Given the description of an element on the screen output the (x, y) to click on. 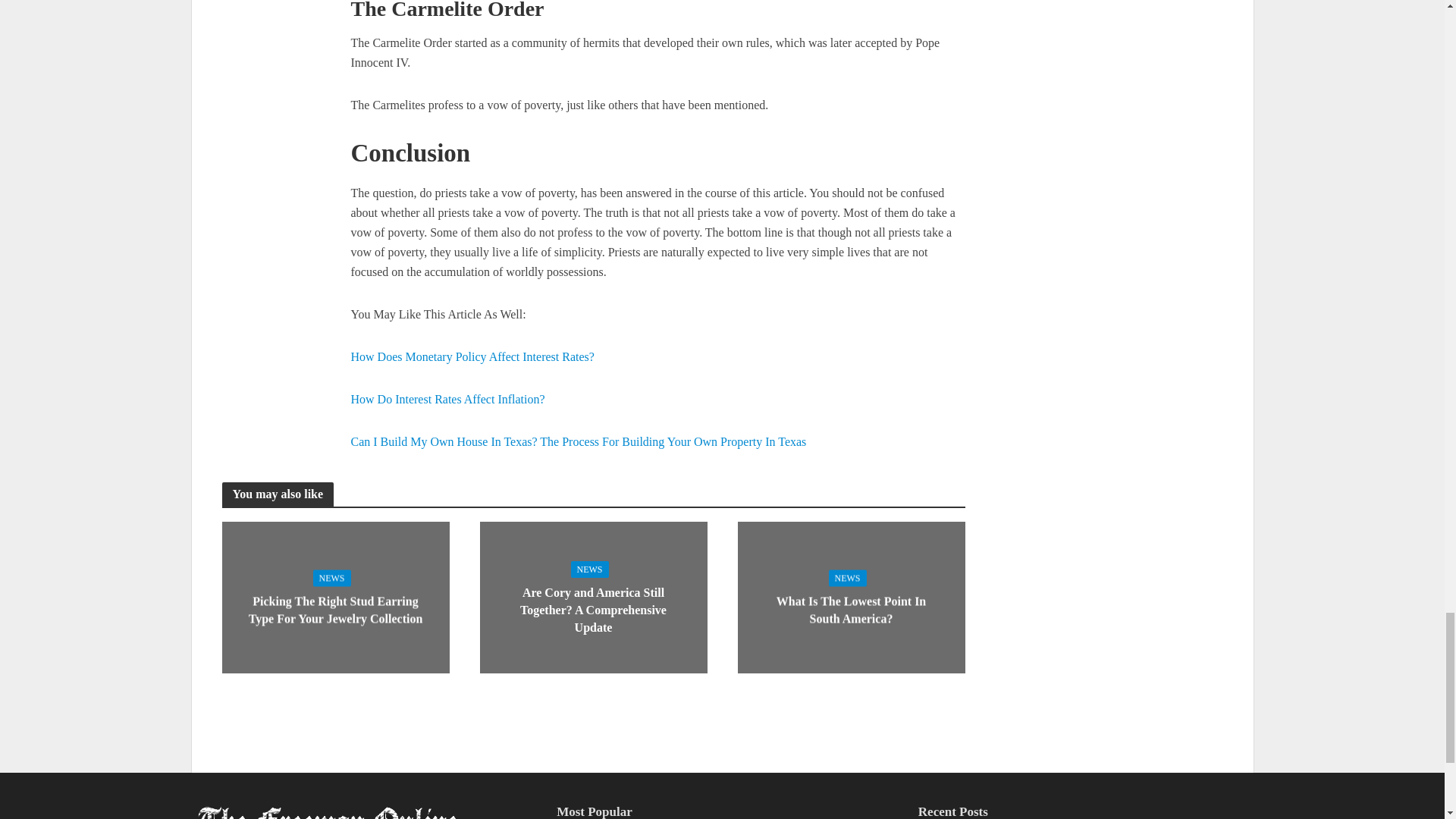
Are Cory and America Still Together? A Comprehensive Update (592, 594)
What Is The Lowest Point In South America? (849, 594)
